Given the description of an element on the screen output the (x, y) to click on. 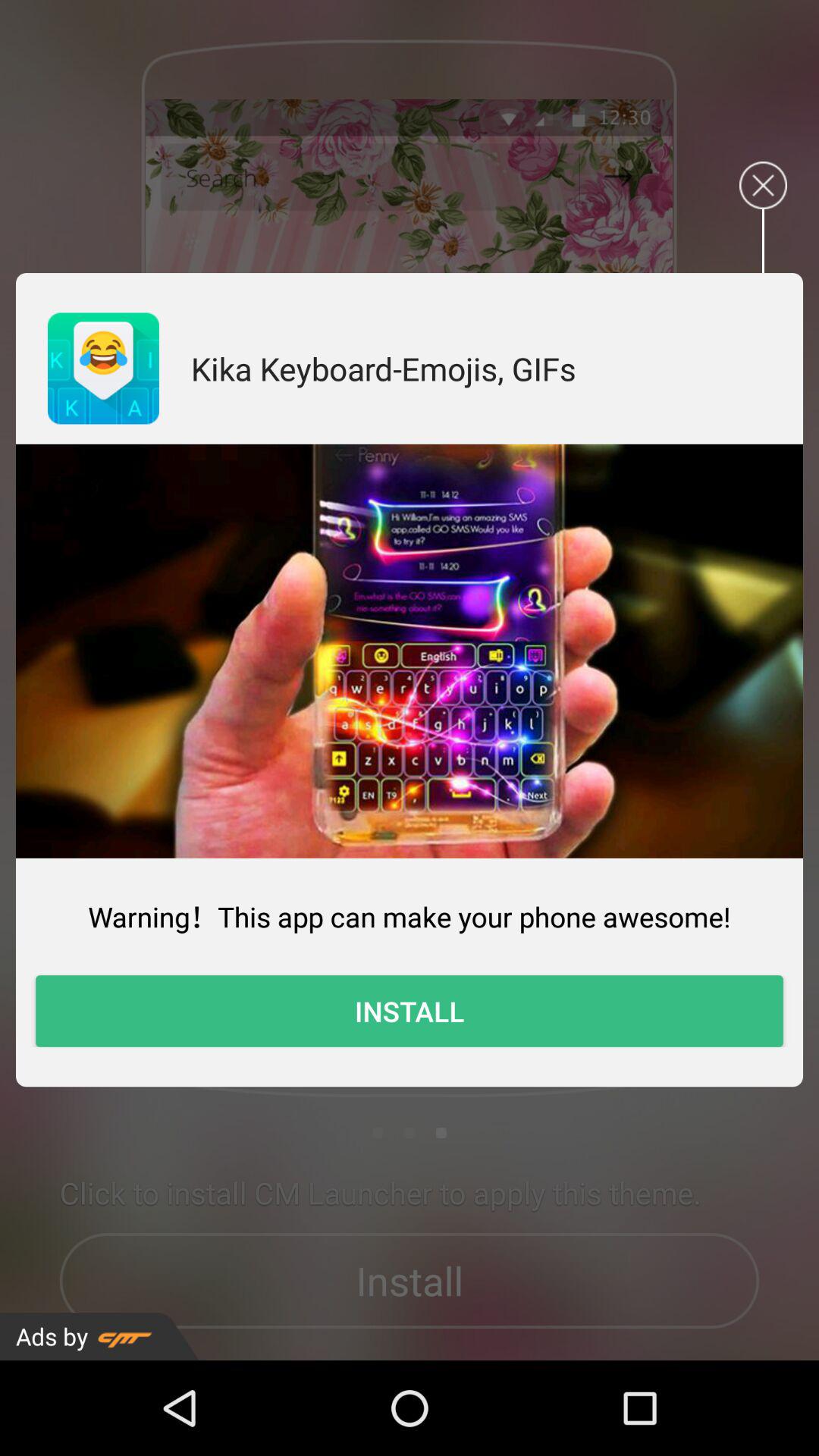
click icon at the top left corner (103, 368)
